Given the description of an element on the screen output the (x, y) to click on. 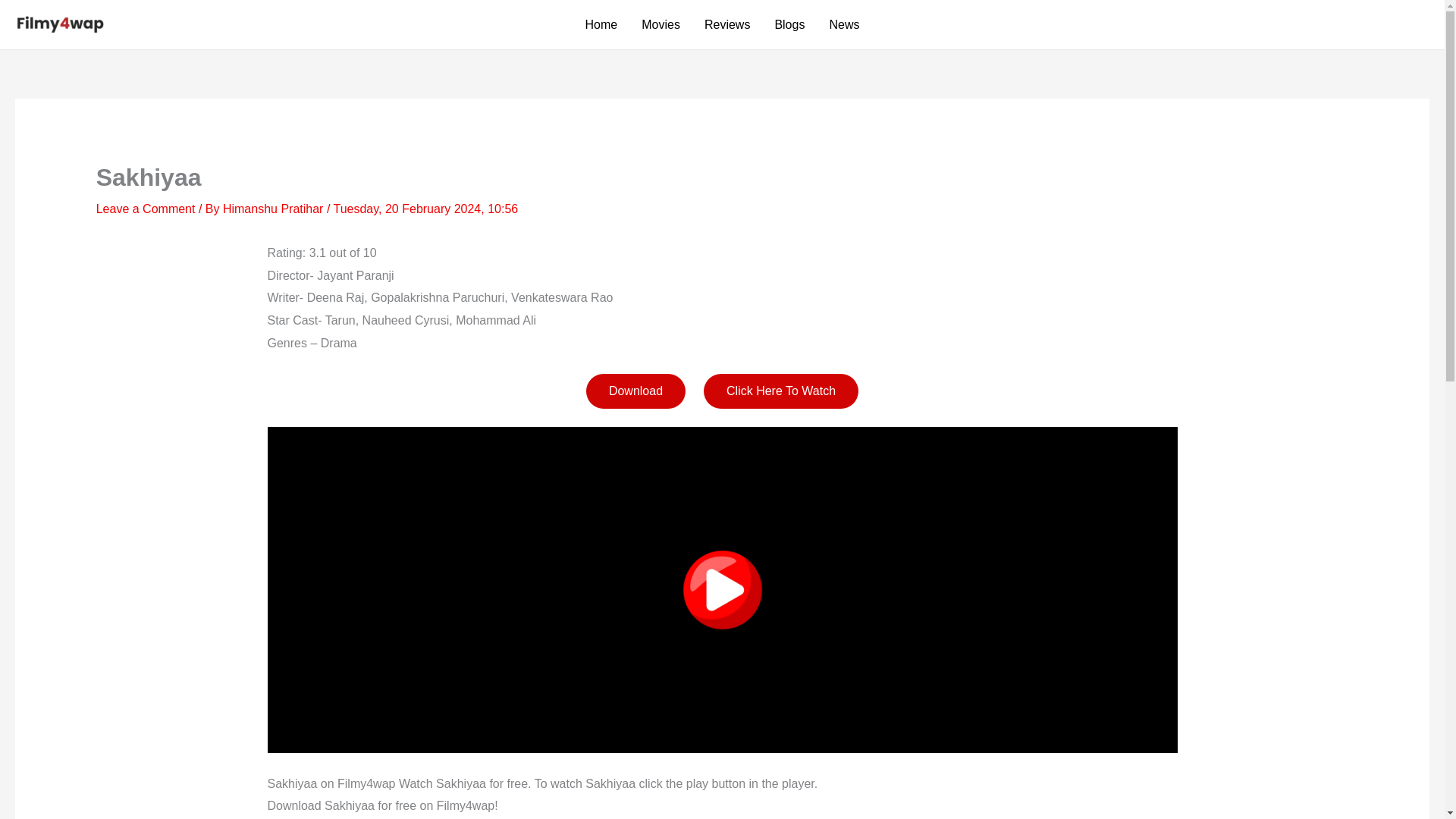
Home (601, 24)
Himanshu Pratihar (274, 208)
View all posts by Himanshu Pratihar (274, 208)
Click Here To Watch (781, 390)
Download (635, 390)
Leave a Comment (145, 208)
News (843, 24)
Blogs (788, 24)
Reviews (727, 24)
Movies (660, 24)
